Given the description of an element on the screen output the (x, y) to click on. 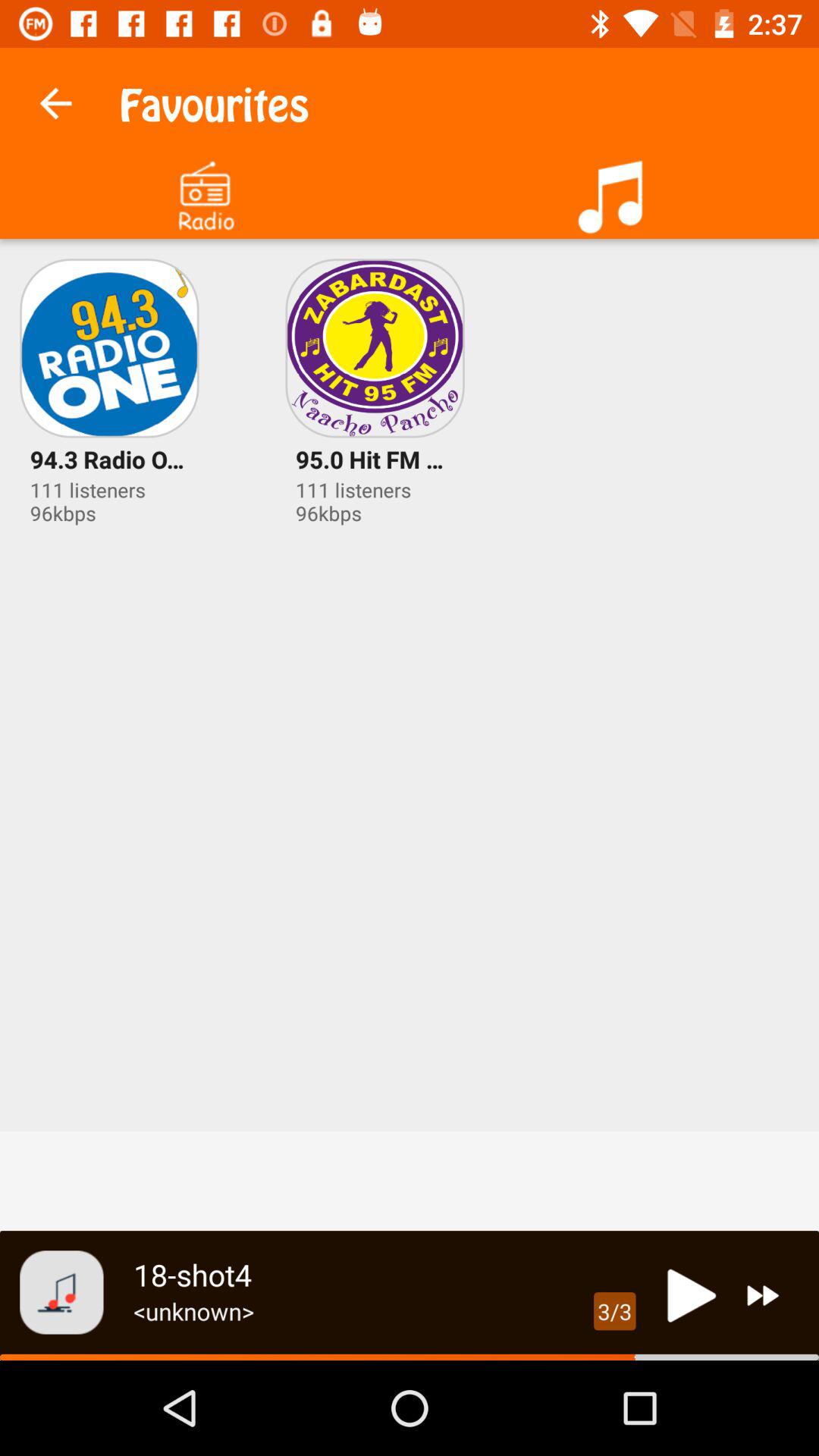
press to select radio options (204, 190)
